Given the description of an element on the screen output the (x, y) to click on. 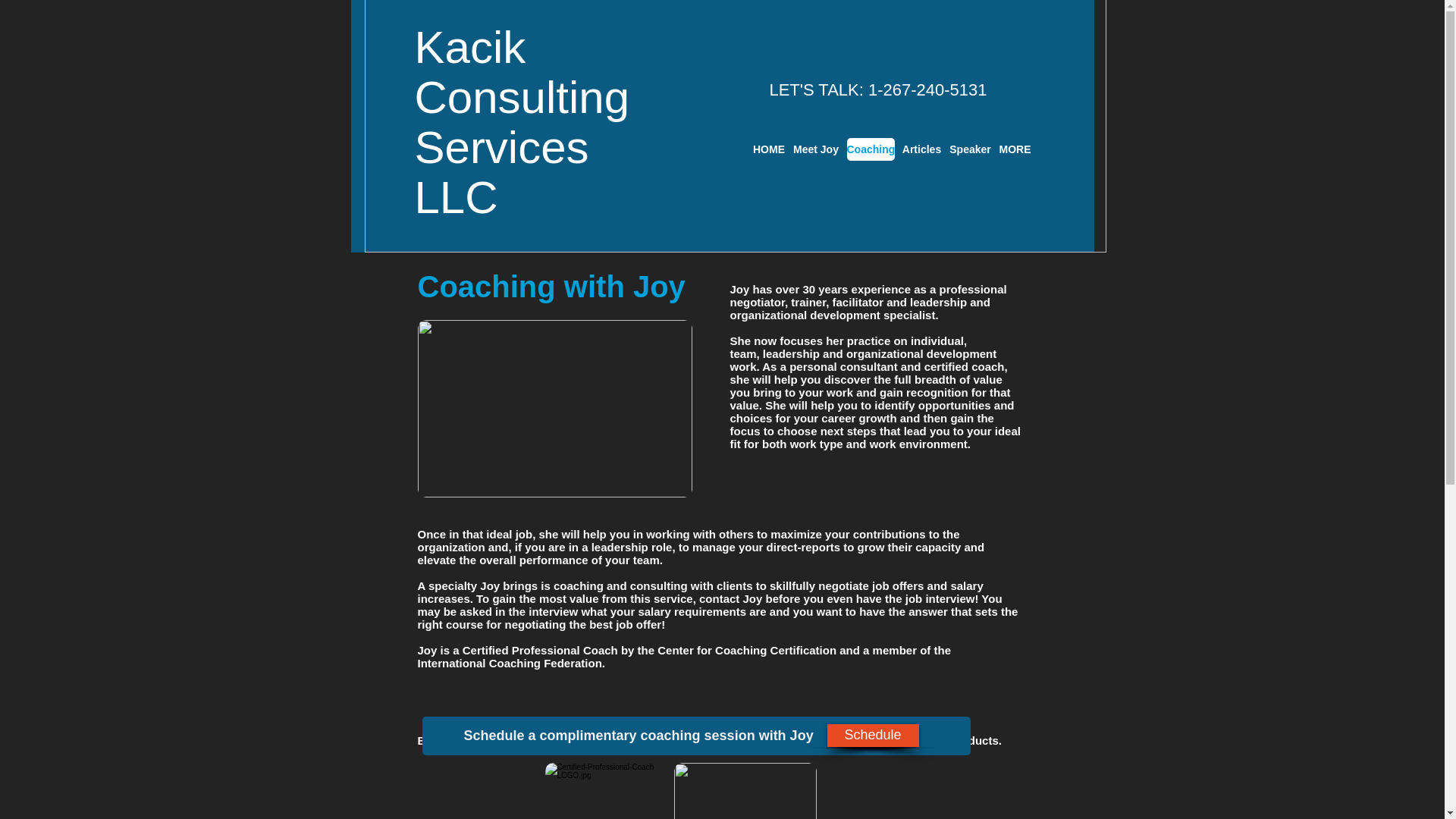
Schedule a complimentary coaching session with Joy (695, 735)
Articles (922, 149)
Speaker (970, 149)
HOME (768, 149)
Schedule (872, 734)
Coaching (869, 149)
Meet Joy (816, 149)
